Given the description of an element on the screen output the (x, y) to click on. 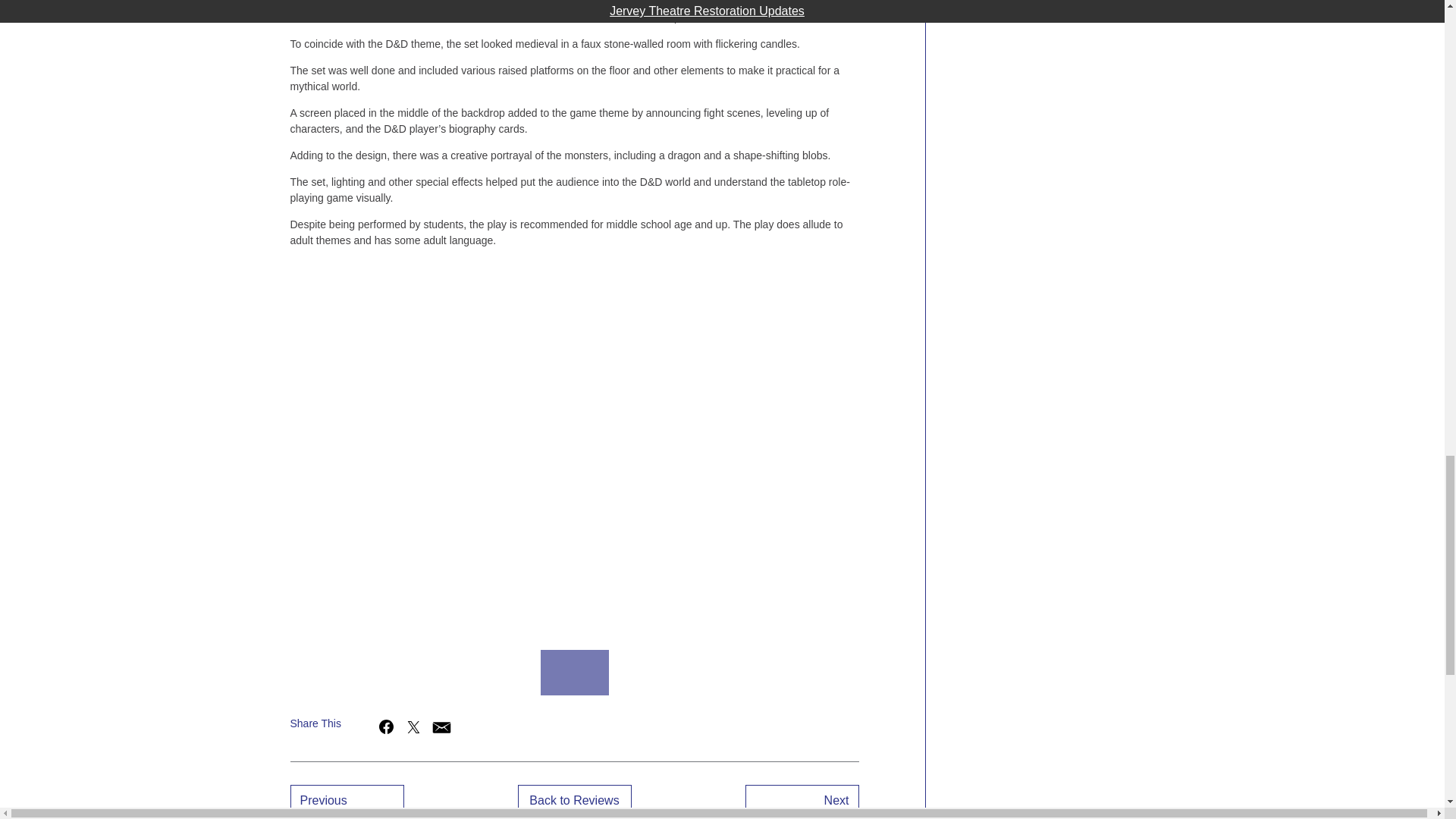
8Y6A1232 (802, 672)
8Y6A1232 (423, 672)
8Y6A0704 (650, 672)
8Y6A0415 (574, 672)
8Y6A0877 (346, 672)
8Y6A0877 (726, 672)
8Y6A0704 (270, 672)
